Given the description of an element on the screen output the (x, y) to click on. 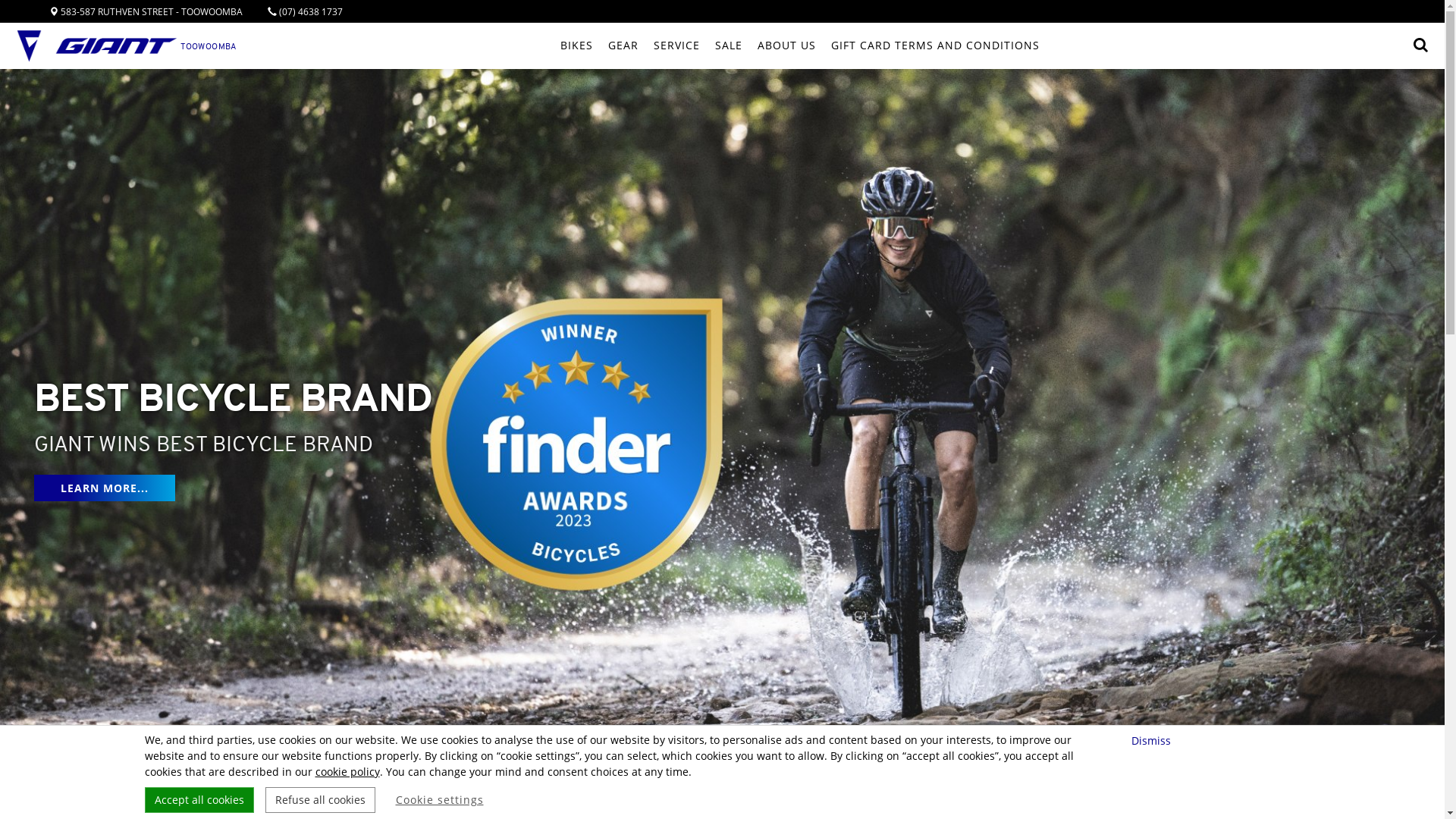
Dismiss Element type: text (1152, 740)
Refuse all cookies Element type: text (320, 799)
GIFT CARD TERMS AND CONDITIONS Element type: text (935, 45)
SALE Element type: text (728, 45)
Accept all cookies Element type: text (198, 799)
BIKES Element type: text (576, 45)
ABOUT US Element type: text (786, 45)
Cookie settings Element type: text (439, 799)
LEARN MORE... Element type: text (104, 487)
GEAR Element type: text (623, 45)
cookie policy Element type: text (347, 771)
SERVICE Element type: text (676, 45)
